Given the description of an element on the screen output the (x, y) to click on. 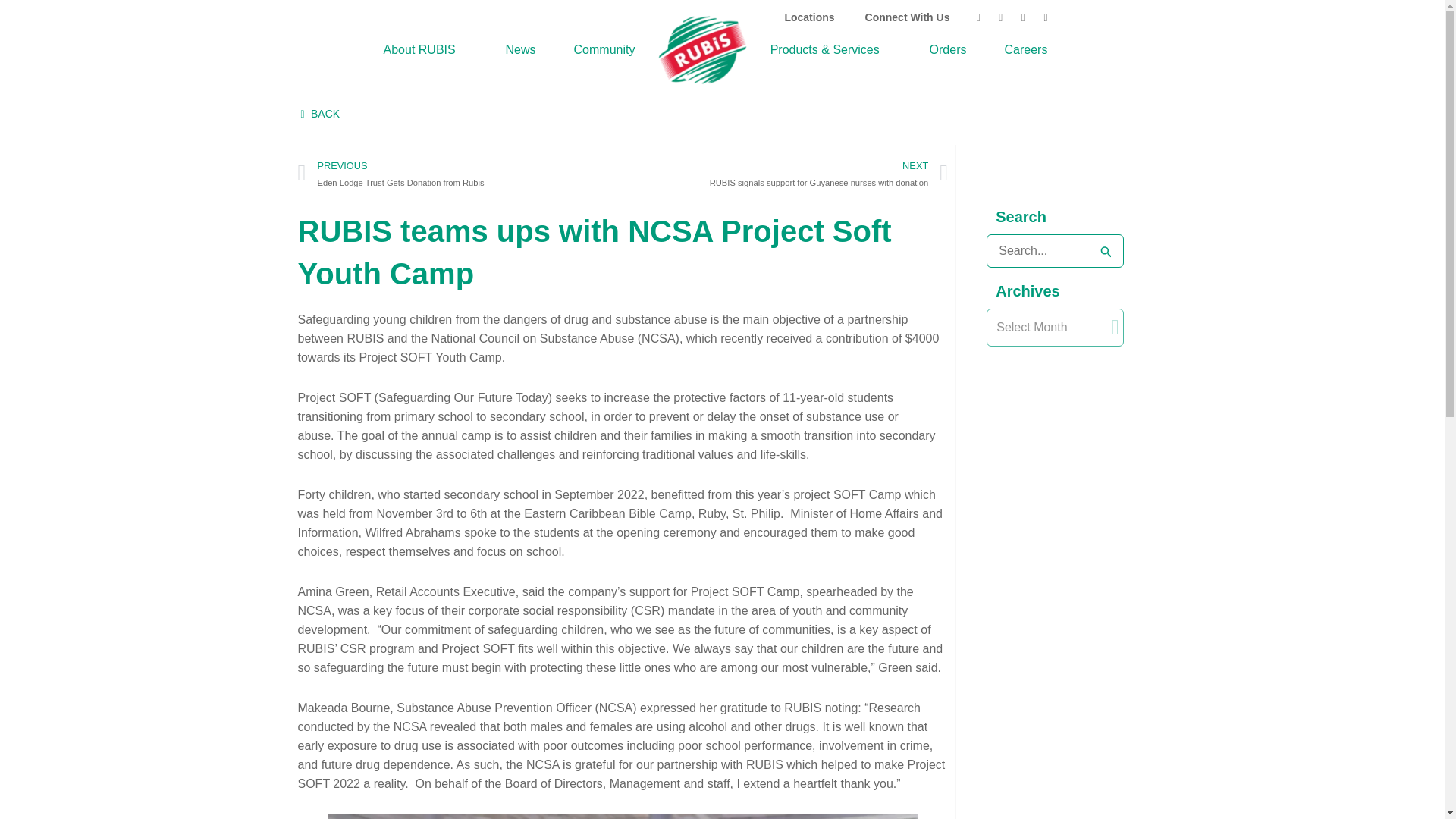
Search (1106, 250)
Search (1106, 250)
